Given the description of an element on the screen output the (x, y) to click on. 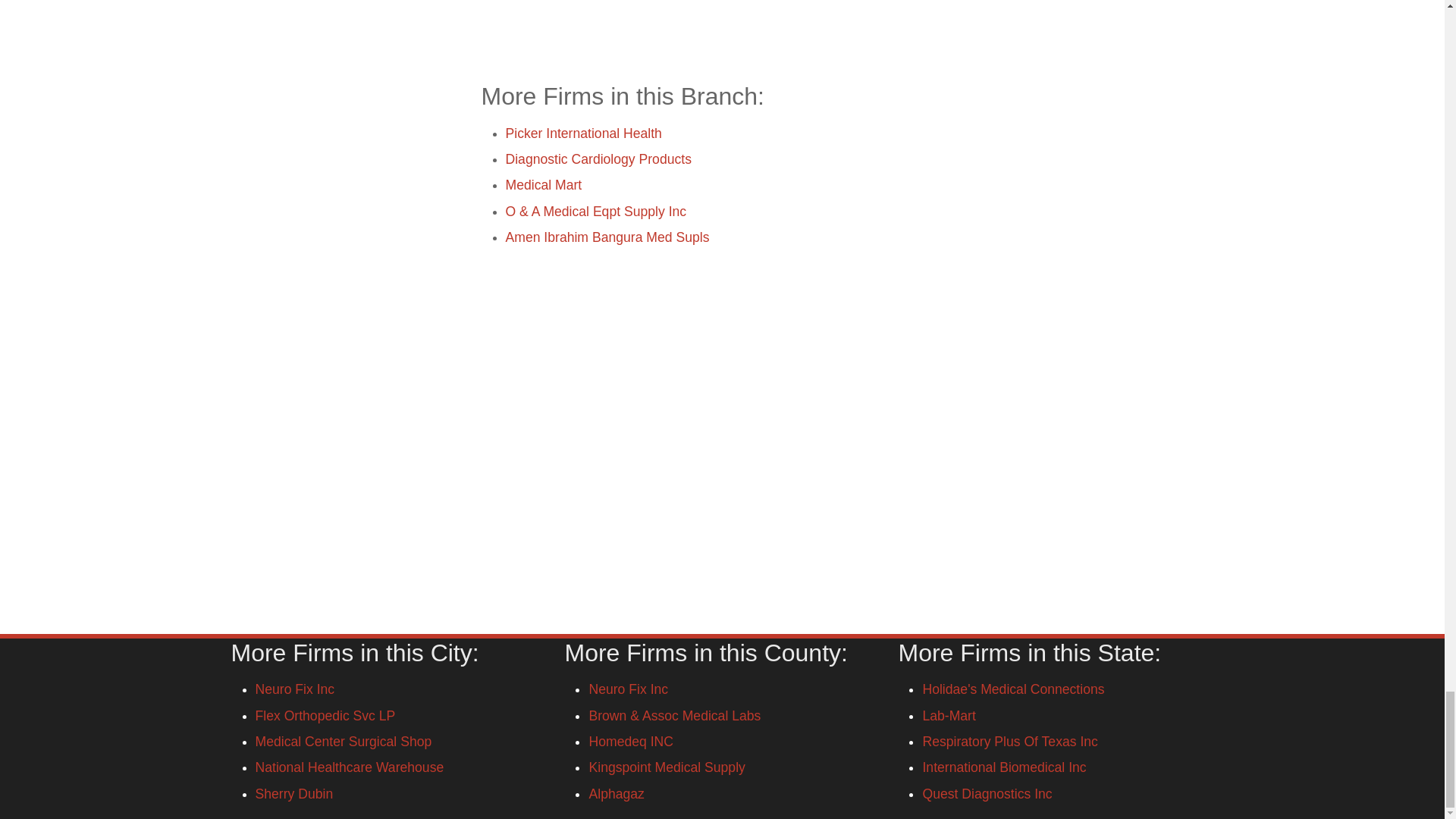
Picker International Health (583, 133)
Diagnostic Cardiology Products (597, 159)
Medical Mart (542, 184)
Amen Ibrahim Bangura Med Supls (607, 237)
